Given the description of an element on the screen output the (x, y) to click on. 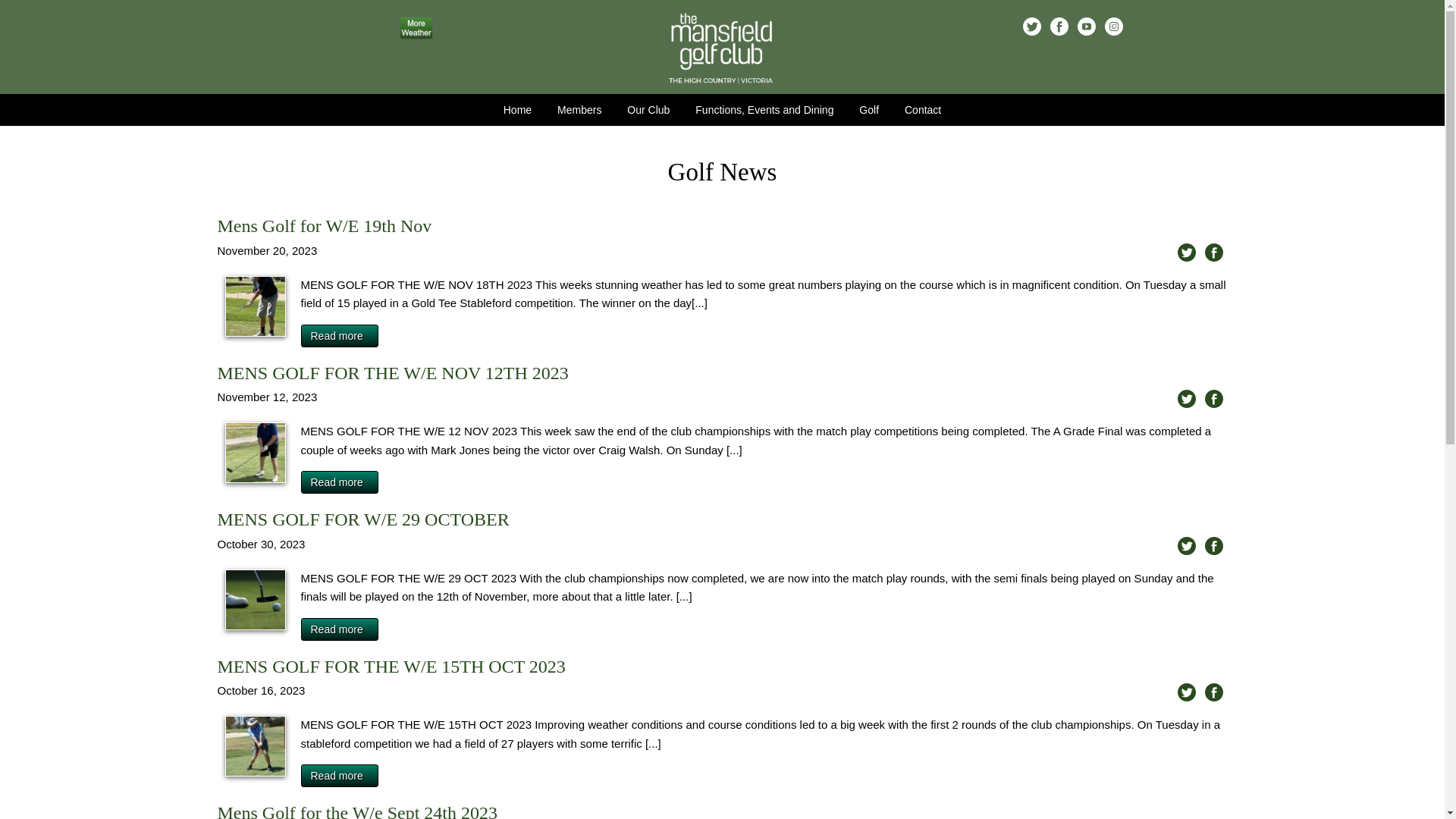
MENS GOLF FOR THE W/E 15TH OCT 2023 Element type: hover (255, 745)
MENS GOLF FOR W/E 29 OCTOBER Element type: hover (255, 599)
Read more Element type: text (338, 481)
Our Club Element type: text (648, 109)
Home Element type: text (517, 109)
Read more Element type: text (338, 775)
Read more Element type: text (338, 335)
MENS GOLF FOR THE W/E NOV 12TH 2023 Element type: hover (255, 452)
MENS GOLF FOR W/E 29 OCTOBER Element type: text (362, 519)
MENS GOLF FOR THE W/E NOV 12TH 2023 Element type: text (391, 372)
Mens Golf for W/E 19th Nov Element type: hover (255, 305)
Functions, Events and Dining Element type: text (764, 109)
Read more Element type: text (338, 629)
Members Element type: text (579, 109)
Mens Golf for W/E 19th Nov Element type: text (323, 225)
MENS GOLF FOR THE W/E 15TH OCT 2023 Element type: text (390, 666)
Golf Element type: text (868, 109)
Contact Element type: text (922, 109)
Mansfield Weather Element type: hover (415, 34)
